Given the description of an element on the screen output the (x, y) to click on. 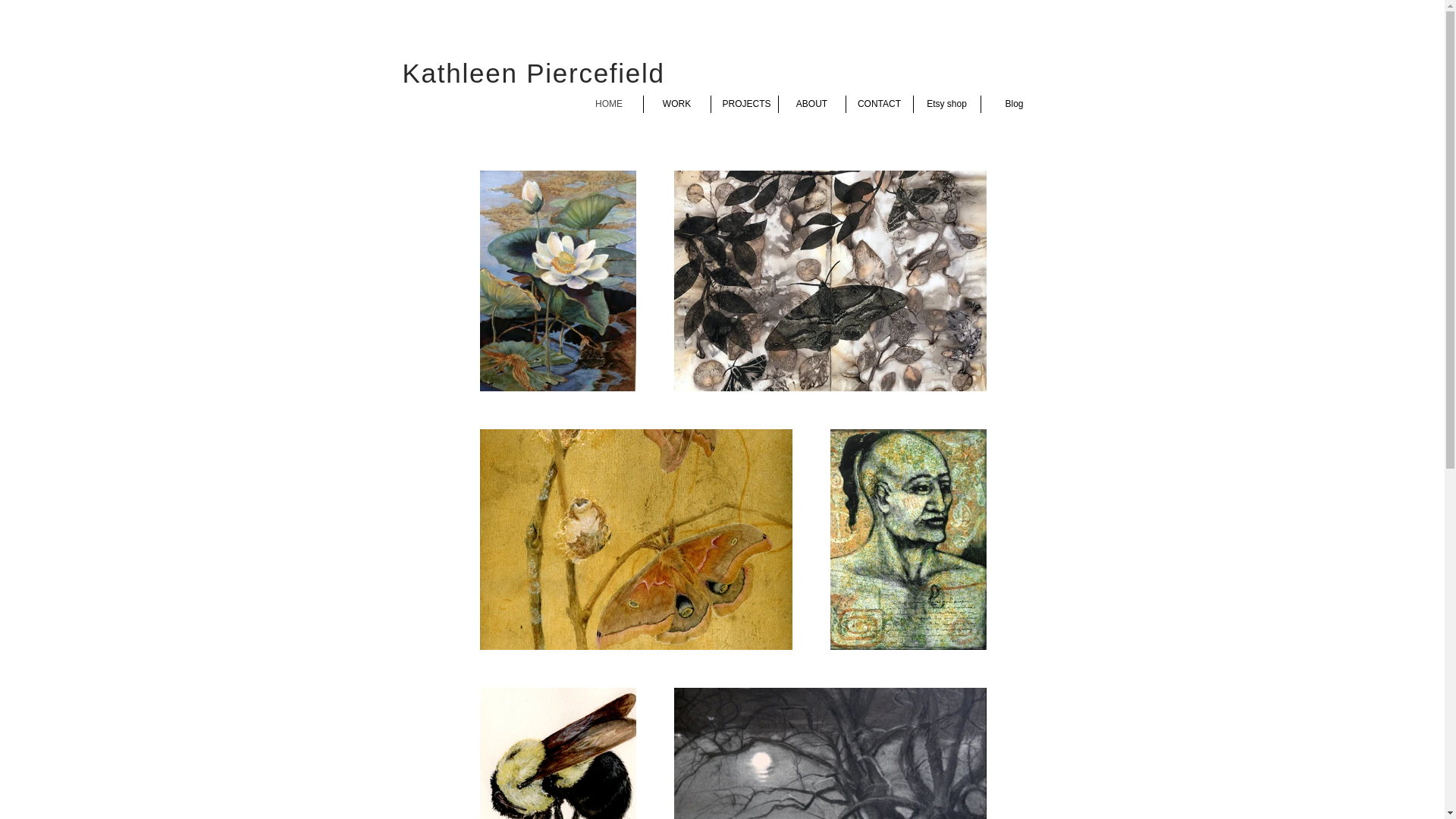
PROJECTS (744, 104)
HOME (608, 104)
Blog (1014, 104)
CONTACT (878, 104)
WORK (676, 104)
Etsy shop (945, 104)
ABOUT (810, 104)
